Given the description of an element on the screen output the (x, y) to click on. 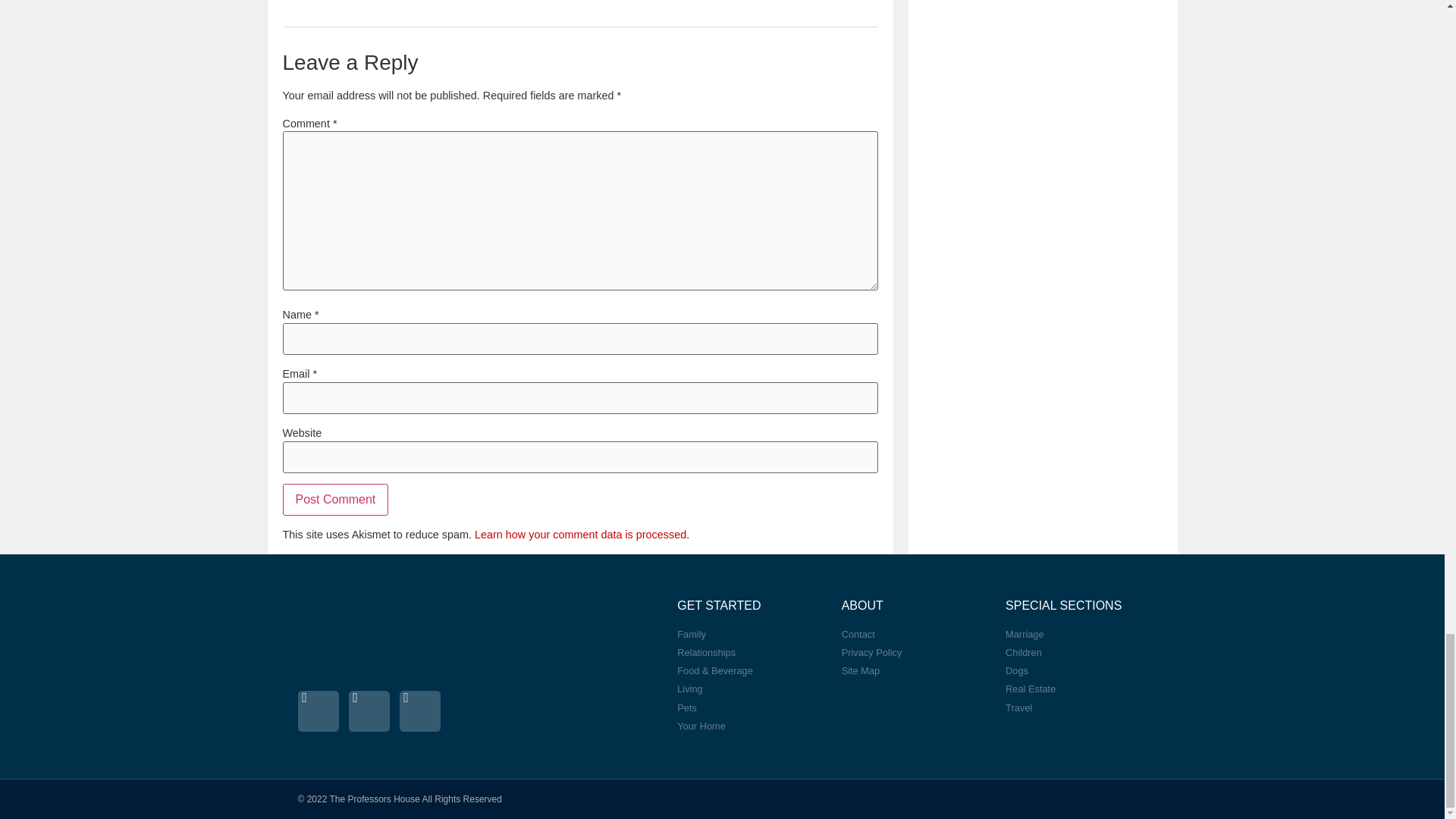
Post Comment (335, 499)
